Given the description of an element on the screen output the (x, y) to click on. 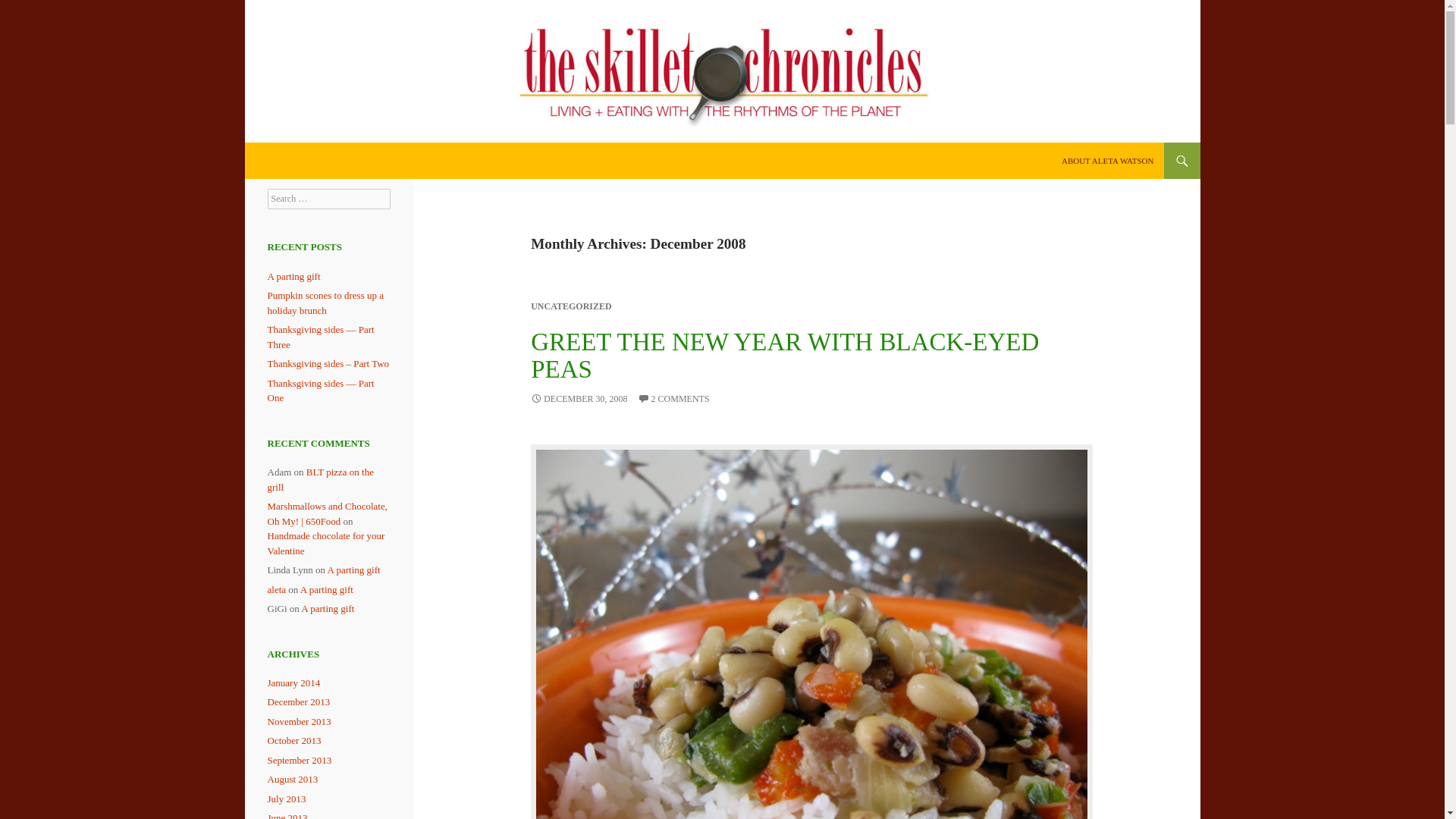
ABOUT ALETA WATSON (1107, 160)
DECEMBER 30, 2008 (579, 398)
THE SKILLET CHRONICLES (360, 160)
GREET THE NEW YEAR WITH BLACK-EYED PEAS (785, 355)
2 COMMENTS (673, 398)
